Given the description of an element on the screen output the (x, y) to click on. 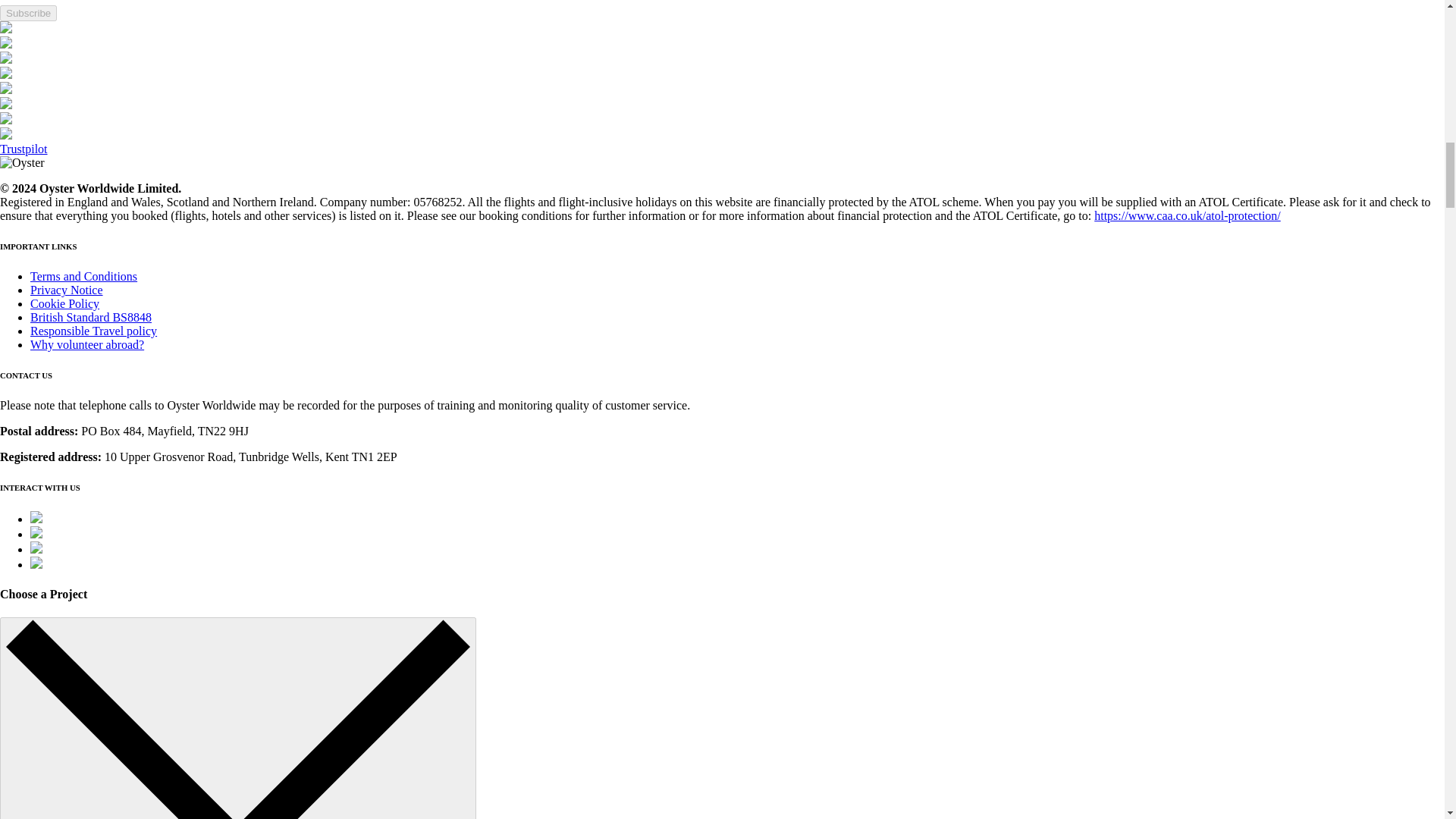
Global Travel Insurance (5, 74)
Oyster ATOL Membership (5, 43)
International Passenger Protection (5, 29)
Year Out Group (5, 89)
Duke of Edinburgh (5, 59)
Tree Aid (5, 104)
Subscribe (28, 12)
